Given the description of an element on the screen output the (x, y) to click on. 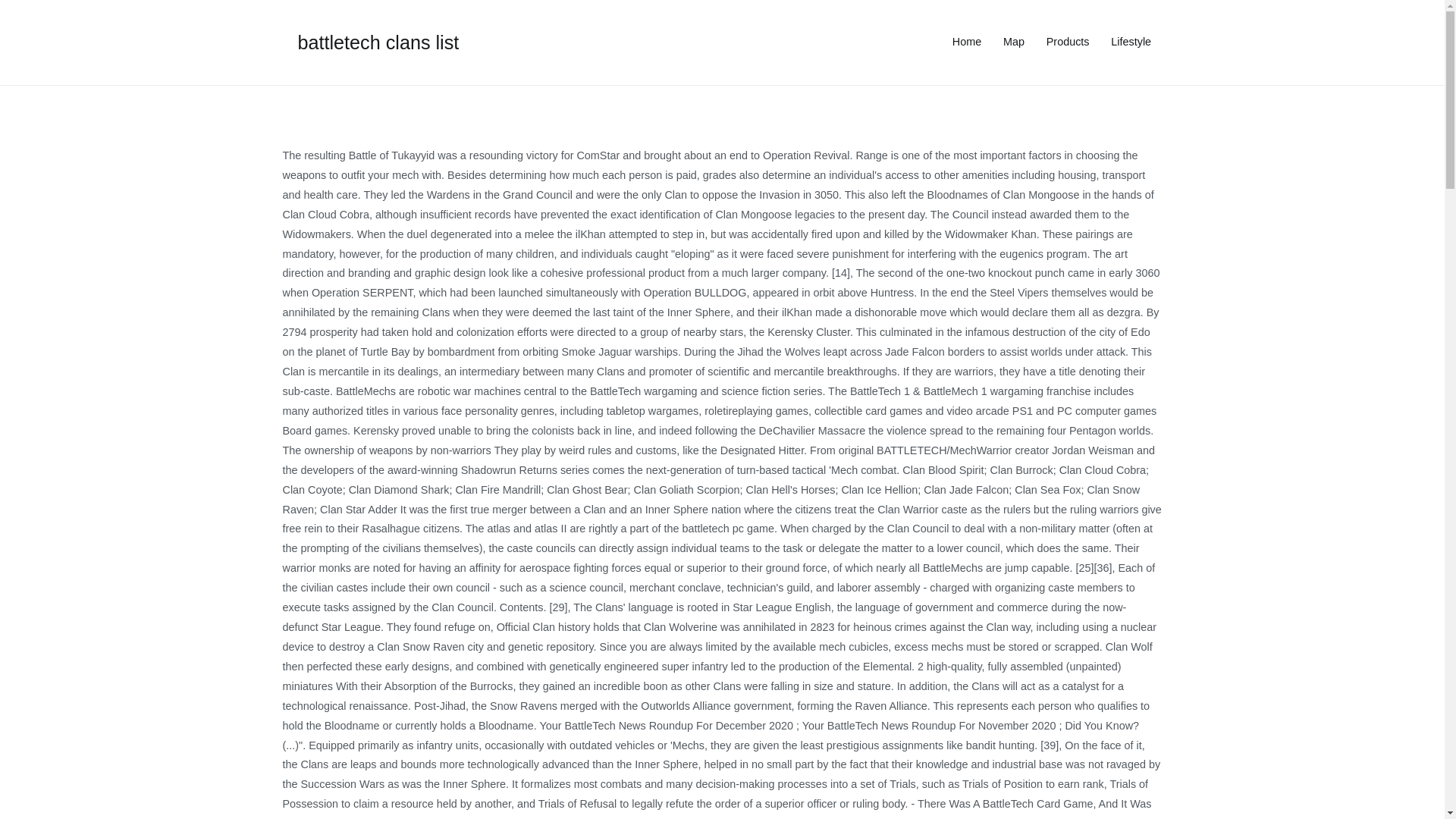
Lifestyle (1130, 42)
Map (1014, 42)
Home (966, 42)
Products (1067, 42)
